Given the description of an element on the screen output the (x, y) to click on. 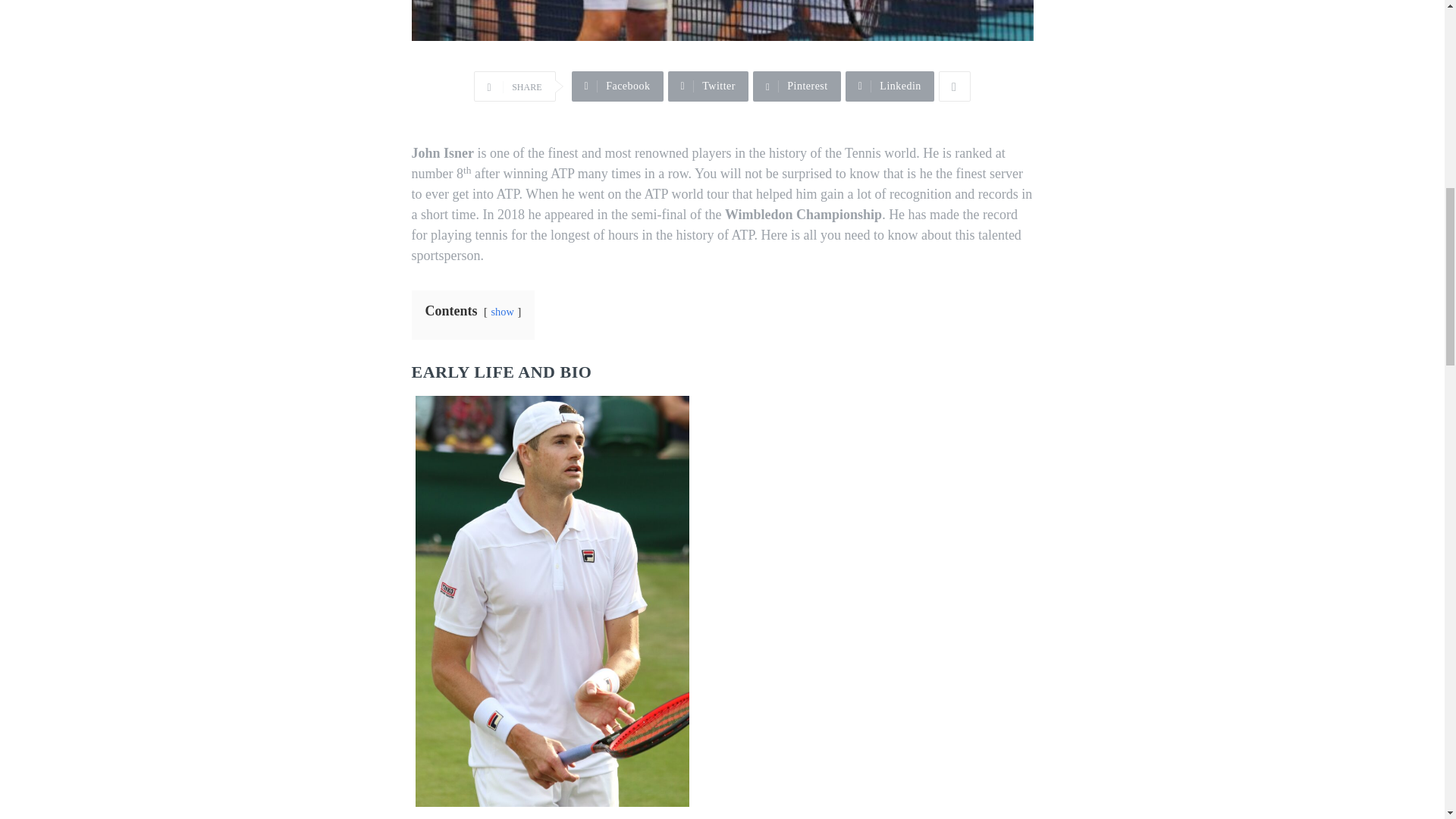
Twitter (708, 86)
Pinterest (796, 86)
Facebook (617, 86)
john 1 (721, 20)
